Given the description of an element on the screen output the (x, y) to click on. 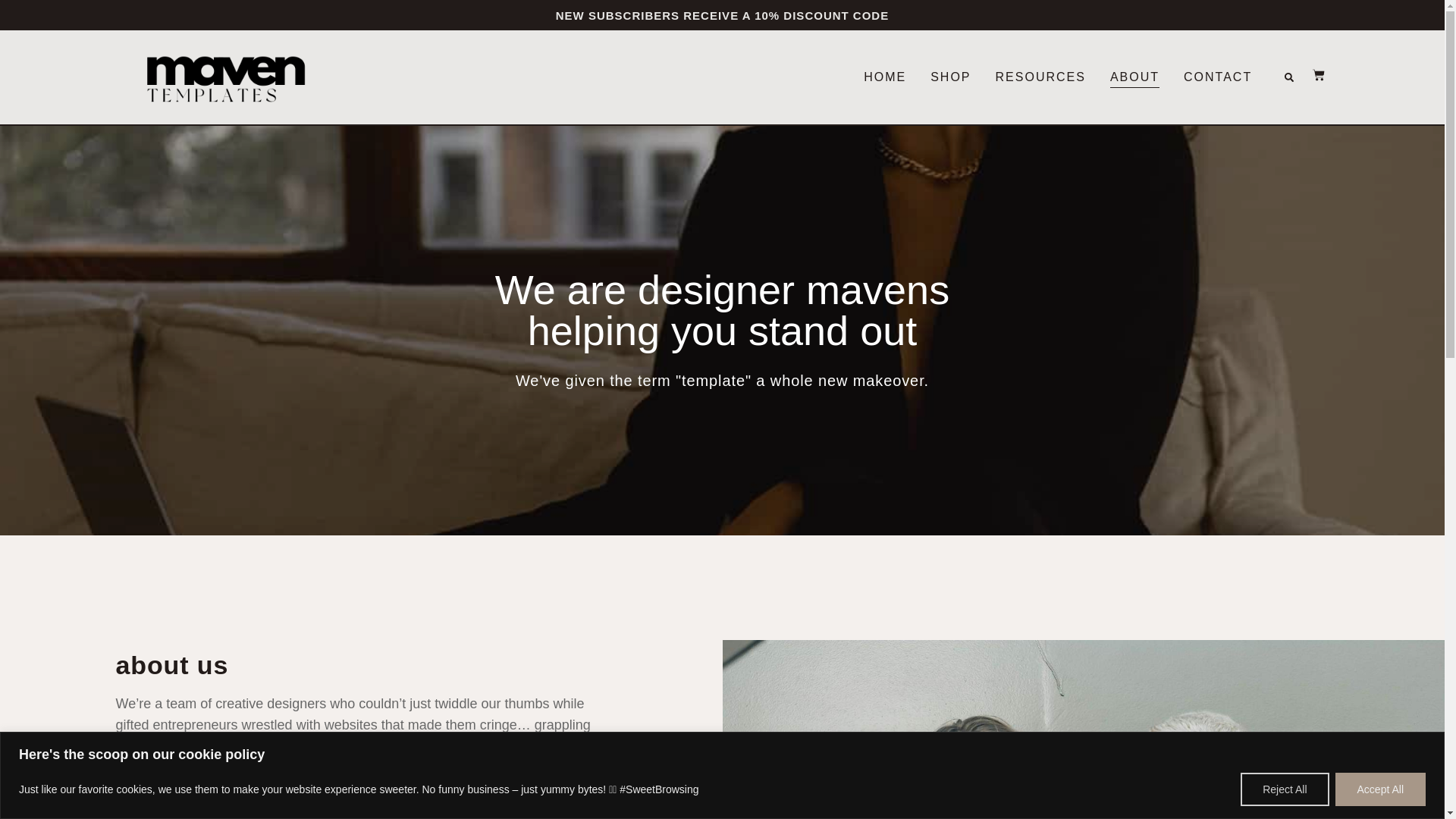
CONTACT (1217, 76)
HOME (884, 76)
ABOUT (1133, 76)
RESOURCES (1040, 76)
SHOP (950, 76)
Reject All (1283, 788)
Accept All (1380, 788)
